Given the description of an element on the screen output the (x, y) to click on. 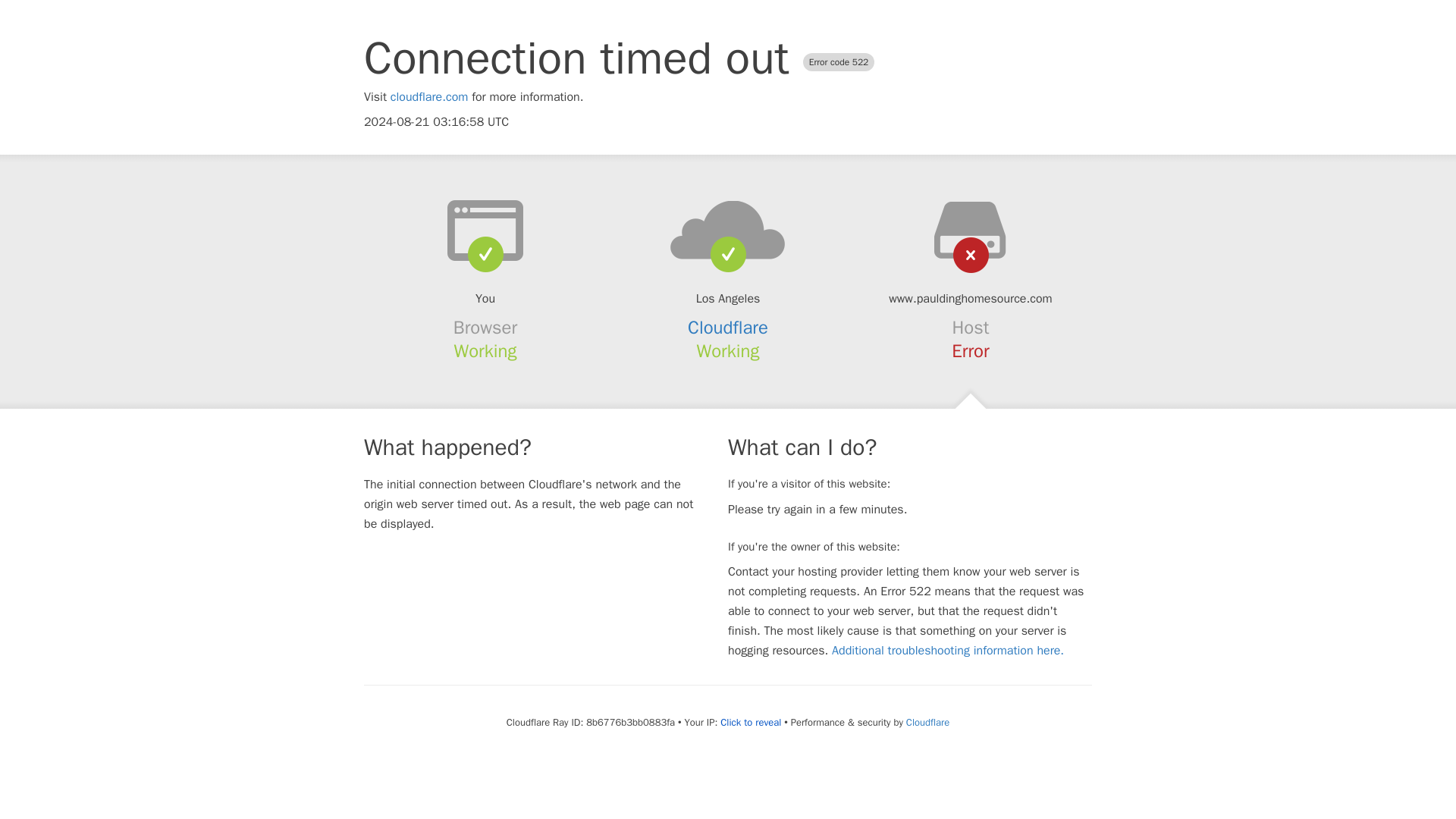
Cloudflare (727, 327)
Click to reveal (750, 722)
cloudflare.com (429, 96)
Additional troubleshooting information here. (947, 650)
Cloudflare (927, 721)
